Given the description of an element on the screen output the (x, y) to click on. 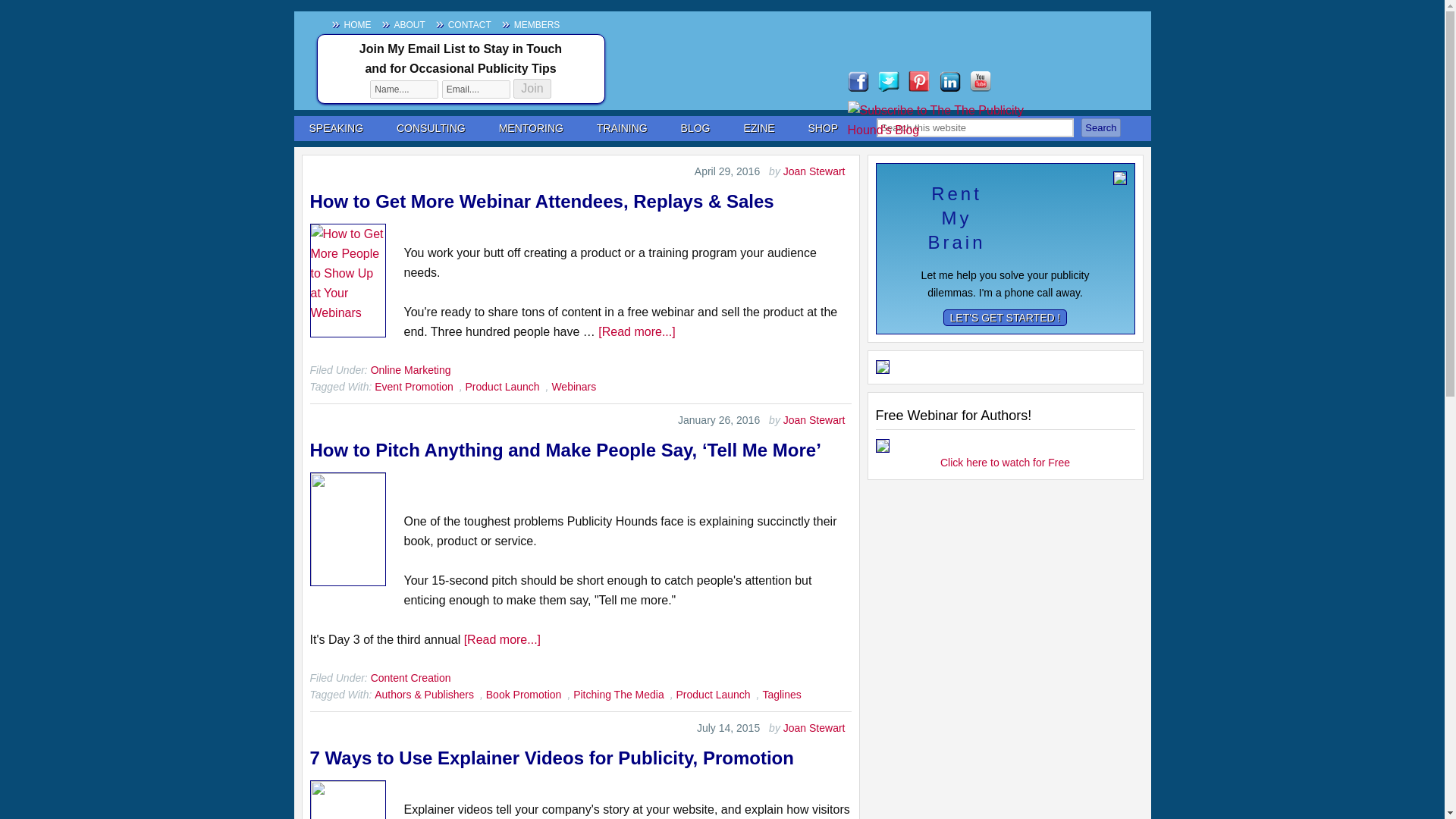
SHOP (823, 128)
Event Promotion (413, 386)
Content Creation (411, 677)
Search (1100, 127)
BLOG (695, 128)
MENTORING (530, 128)
Product Launch (714, 694)
Connect with The Publicity Hound on Twitter (888, 81)
Follow The Publicity Hound on YouTube (980, 81)
Webinars (573, 386)
